Given the description of an element on the screen output the (x, y) to click on. 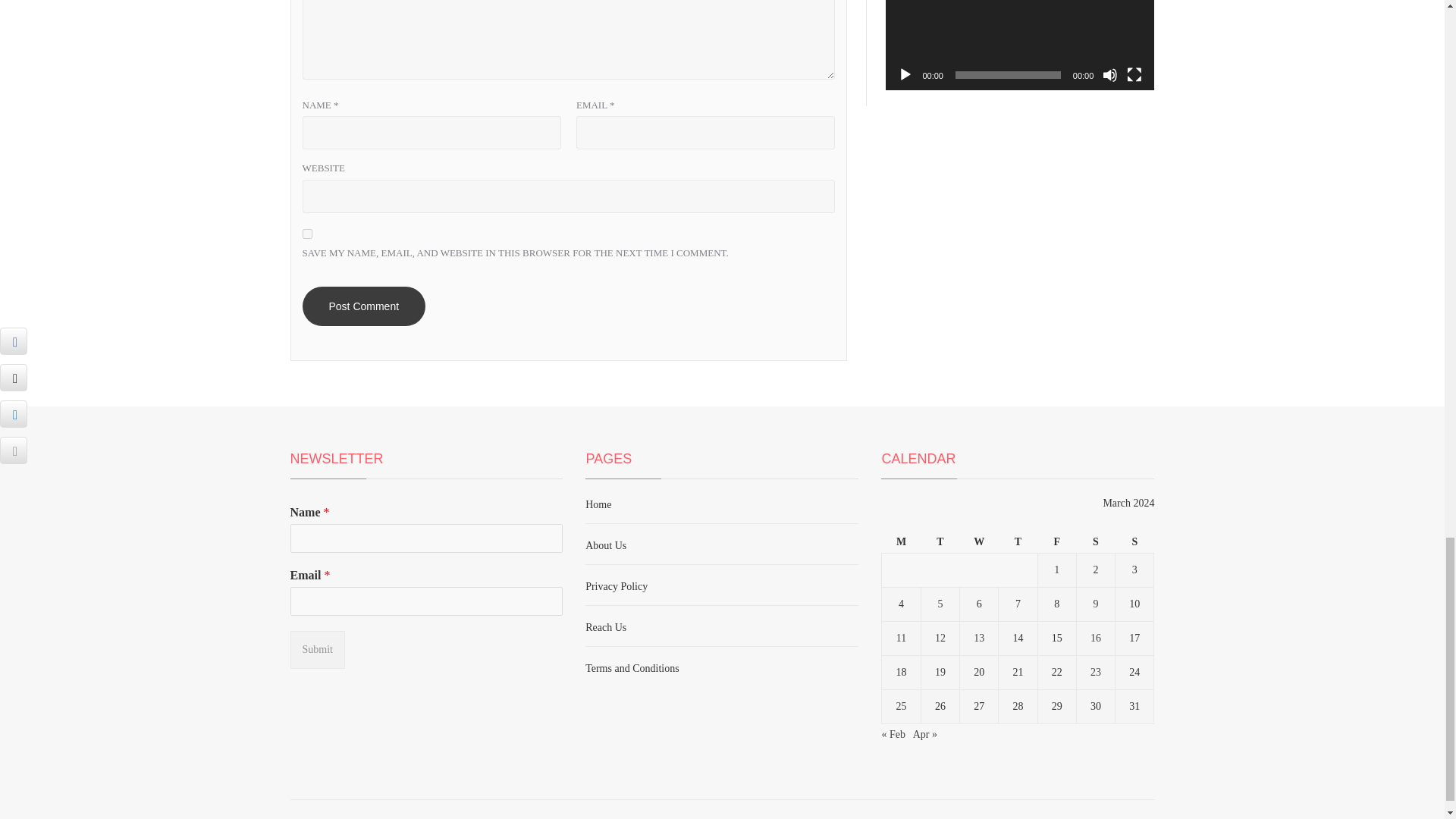
Thursday (1017, 542)
Play (905, 74)
Tuesday (939, 542)
Mute (1110, 74)
Saturday (1095, 542)
Wednesday (978, 542)
Monday (901, 542)
Post Comment (363, 305)
Sunday (1134, 542)
Post Comment (363, 305)
Fullscreen (1133, 74)
yes (306, 234)
Friday (1055, 542)
